Given the description of an element on the screen output the (x, y) to click on. 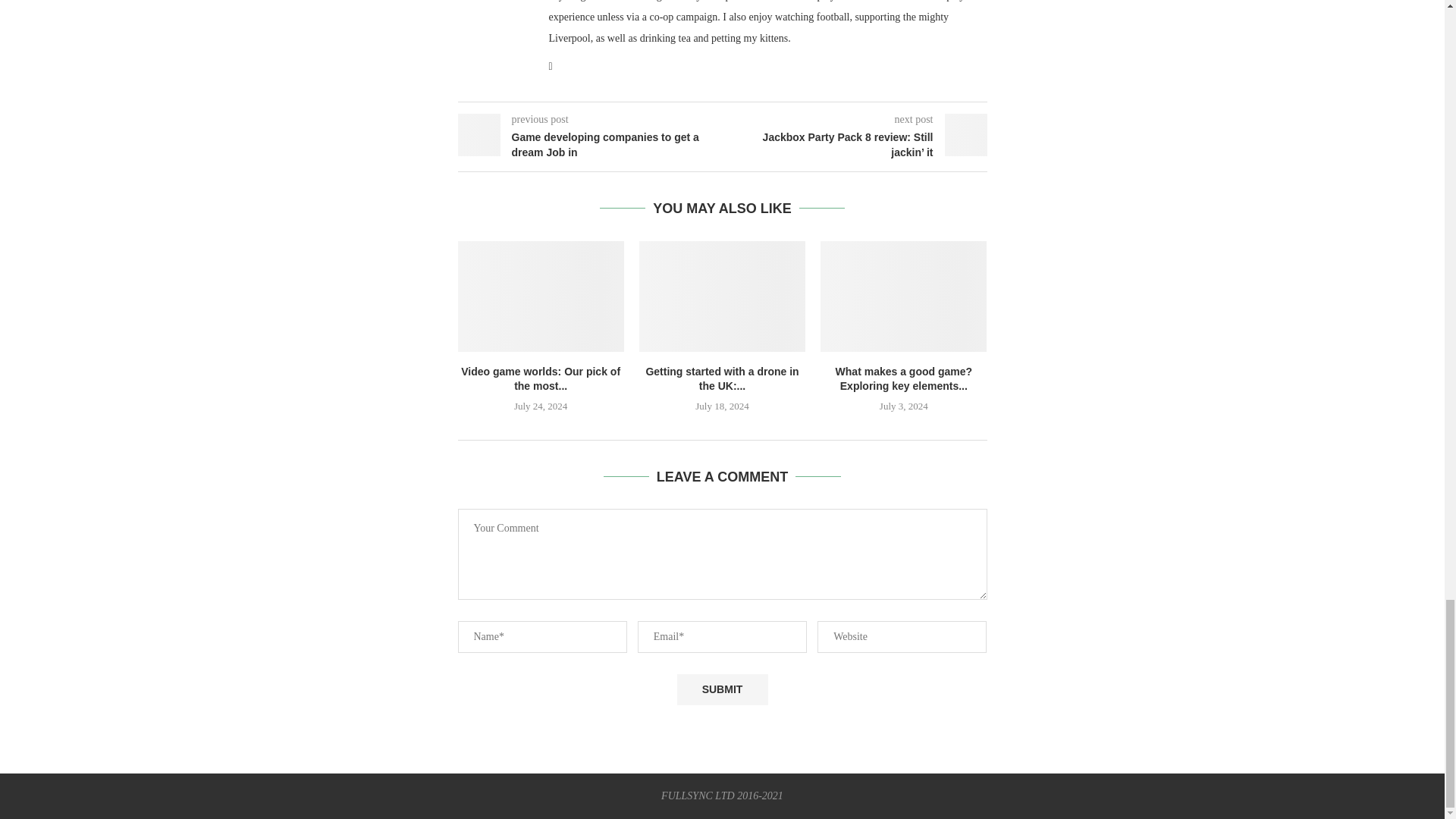
Submit (722, 689)
